Given the description of an element on the screen output the (x, y) to click on. 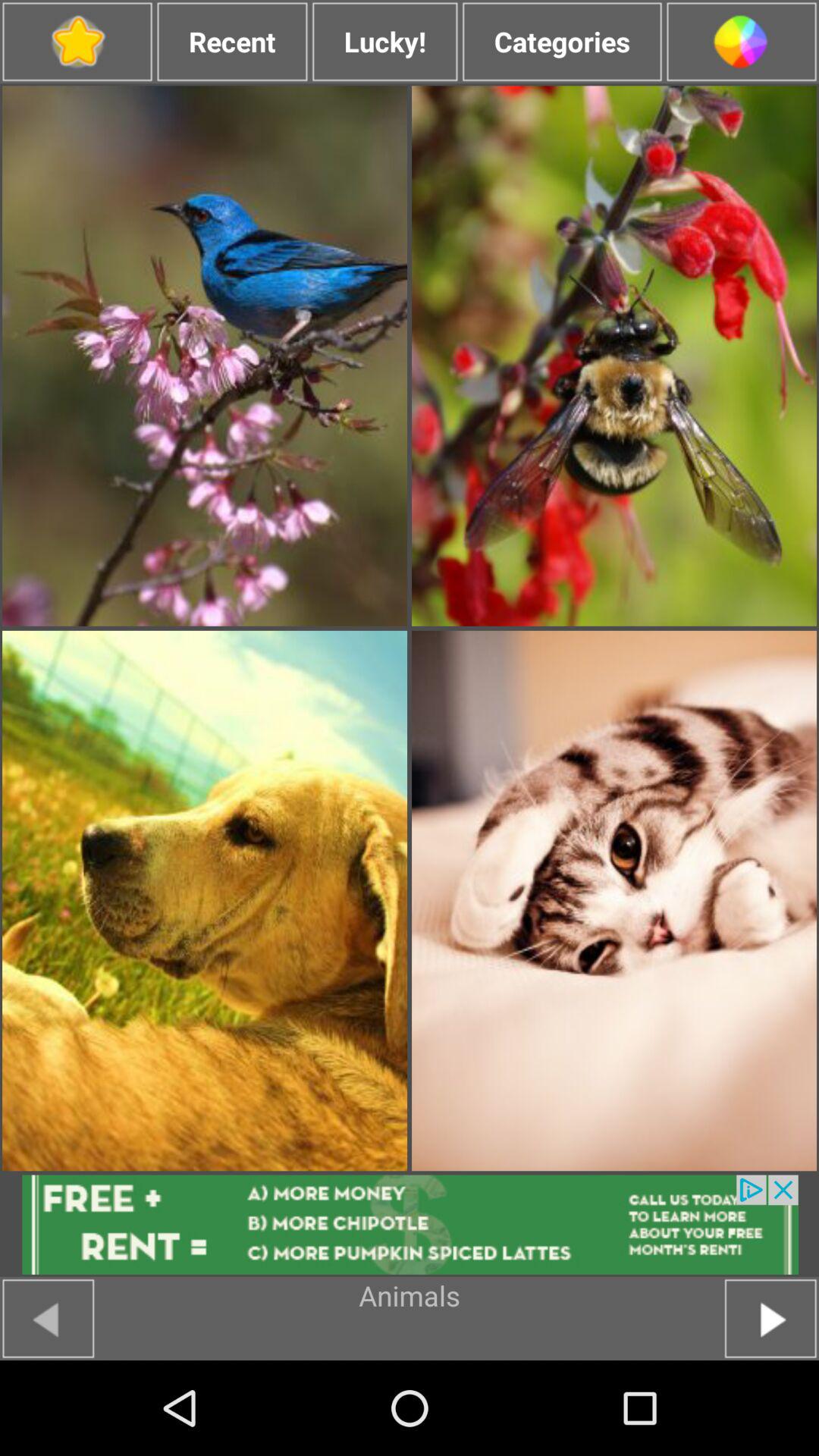
go forward (770, 1318)
